Given the description of an element on the screen output the (x, y) to click on. 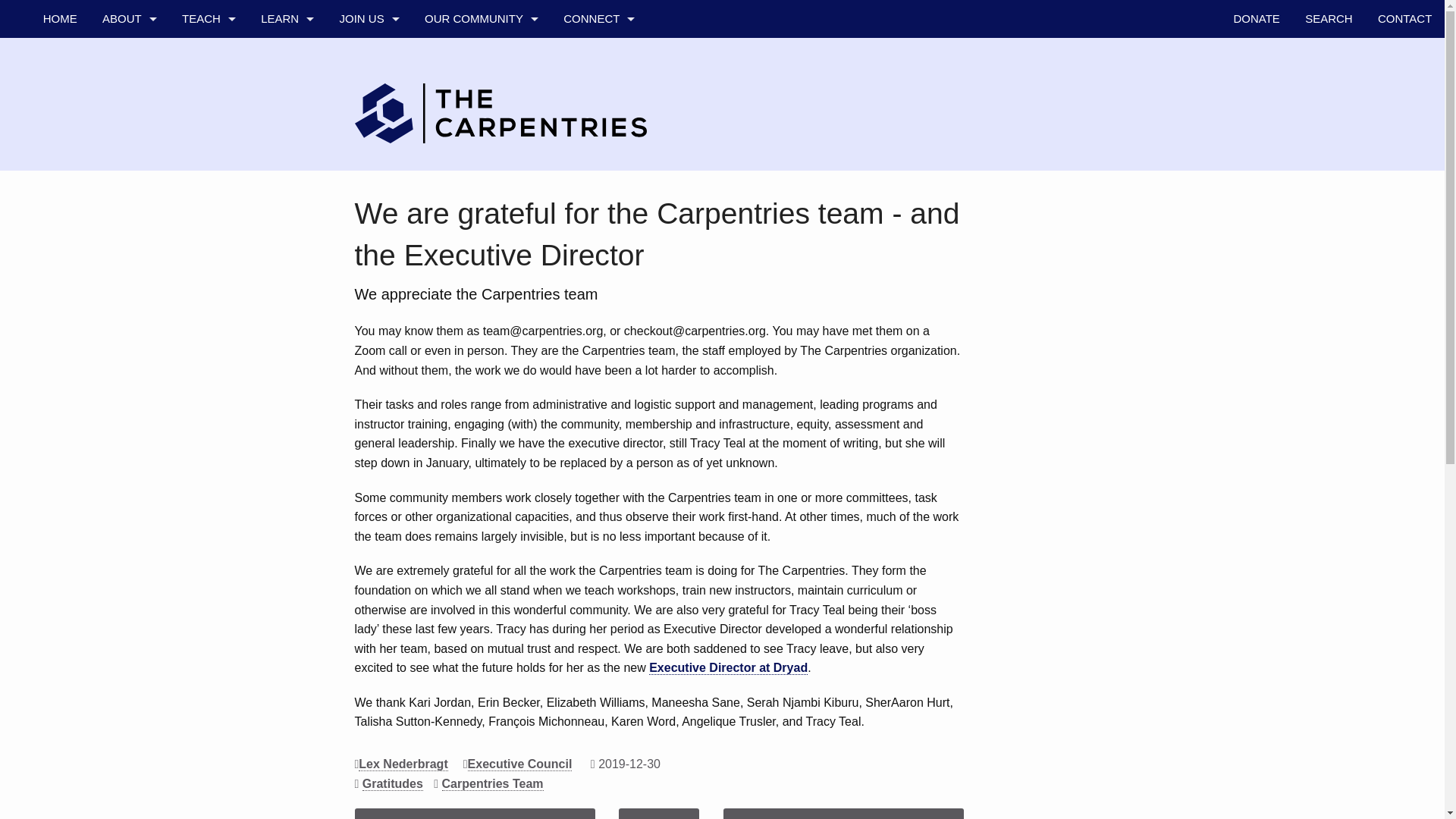
BECOME A SPONSOR (369, 170)
BECOME A MEMBER ORGANISATION (369, 132)
COMMUNITY LESSONS (207, 208)
ONLINE WORKSHOP RECOMMENDATIONS (207, 322)
OUR COMMUNITY (481, 18)
TESTIMONIALS (128, 246)
PAST WORKSHOPS (286, 170)
SOFTWARE CARPENTRY LESSONS (207, 132)
GOVERNANCE (128, 170)
JOIN US (369, 18)
OUR TEAM (481, 56)
FOR INSTRUCTORS (207, 284)
UPCOMING WORKSHOPS (286, 132)
ABOUT US (128, 56)
SEARCH (1328, 18)
